Given the description of an element on the screen output the (x, y) to click on. 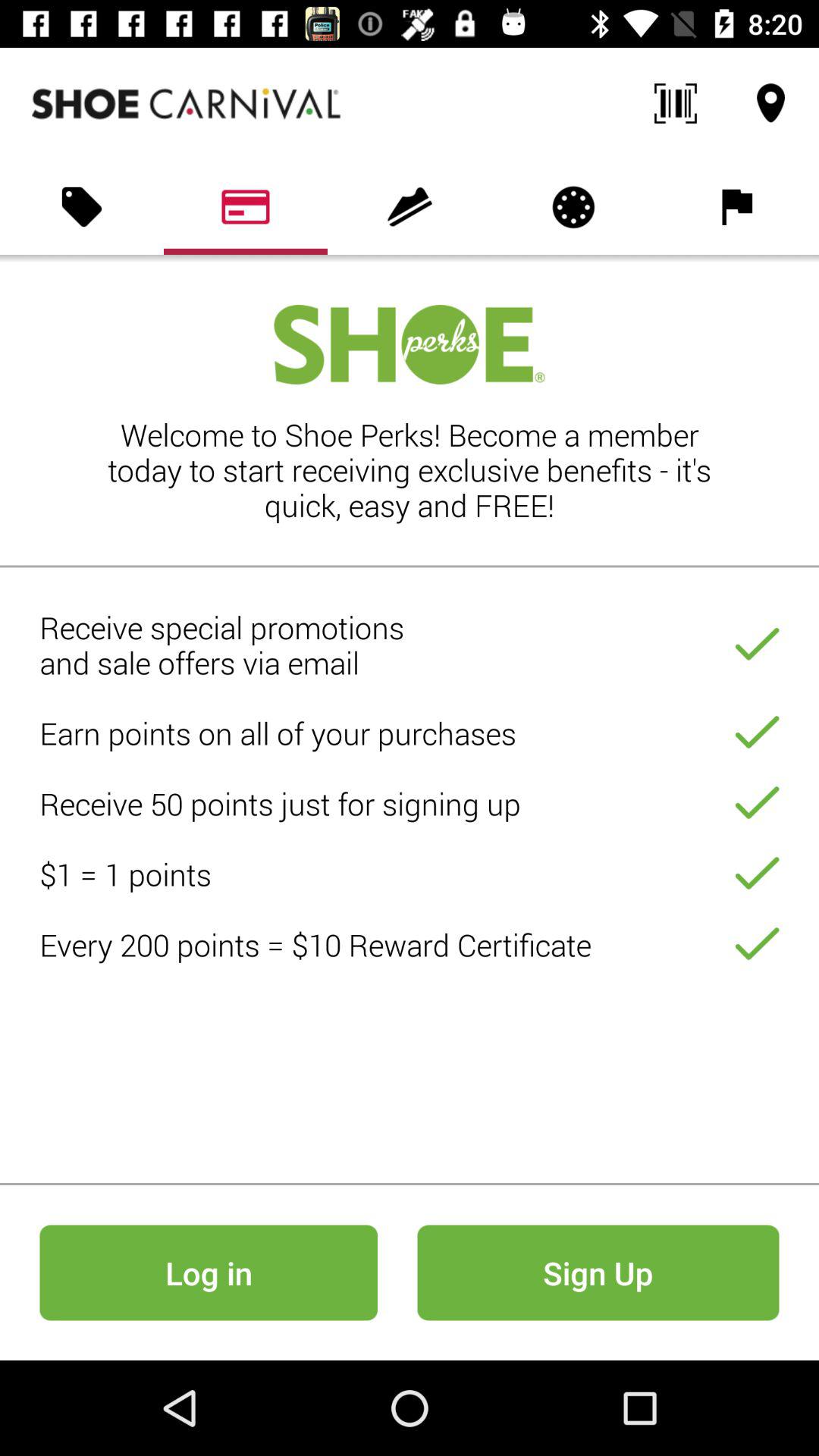
swipe until log in icon (208, 1272)
